Given the description of an element on the screen output the (x, y) to click on. 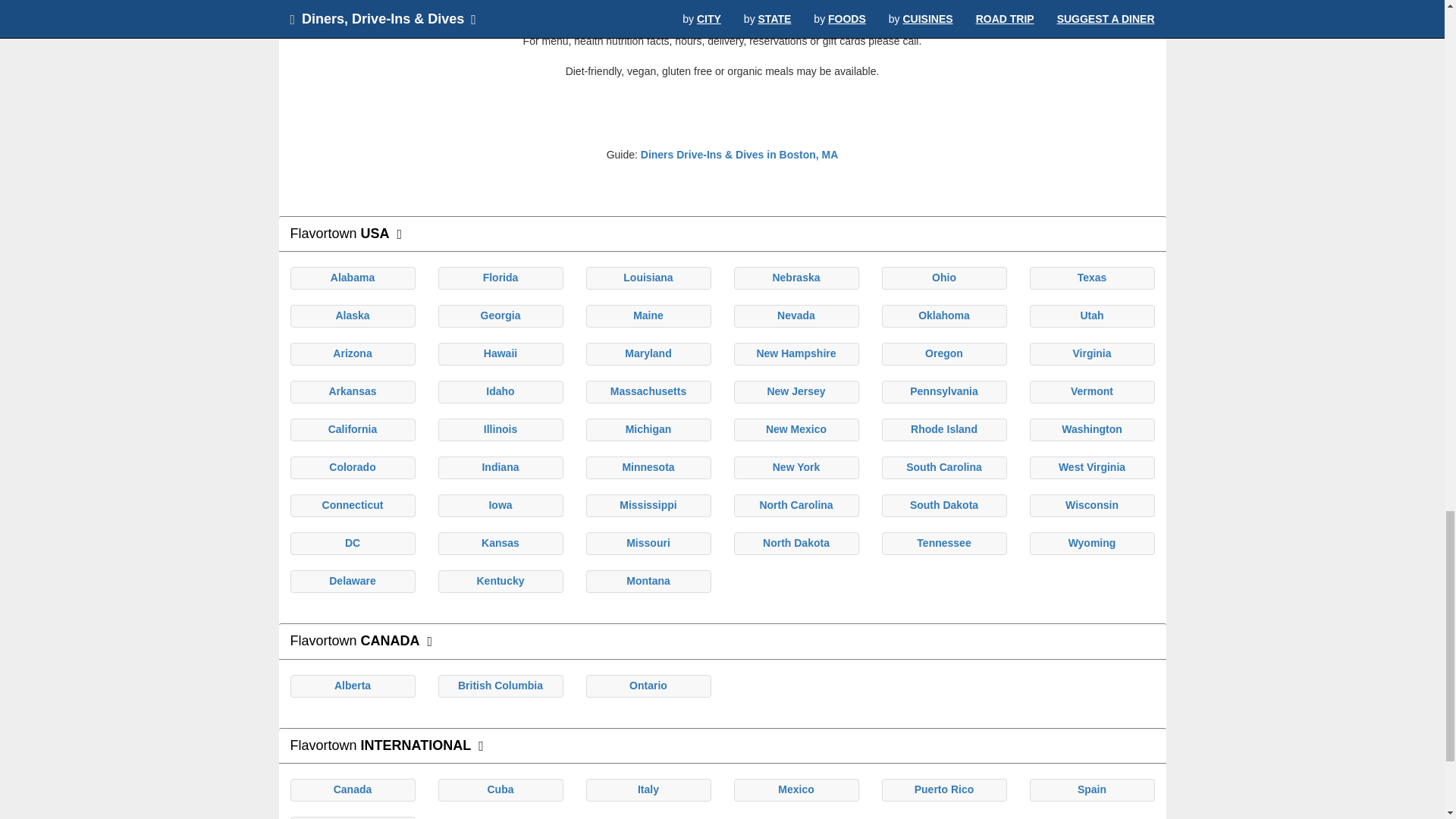
Massachusetts (647, 390)
Connecticut (352, 504)
Missouri (647, 542)
Kansas (500, 542)
Arkansas (352, 390)
Nebraska (795, 277)
Michigan (648, 428)
Louisiana (647, 277)
Minnesota (647, 467)
Arizona (352, 353)
Mississippi (648, 504)
Hawaii (499, 353)
Illinois (499, 428)
Alaska (351, 315)
Georgia (500, 315)
